Given the description of an element on the screen output the (x, y) to click on. 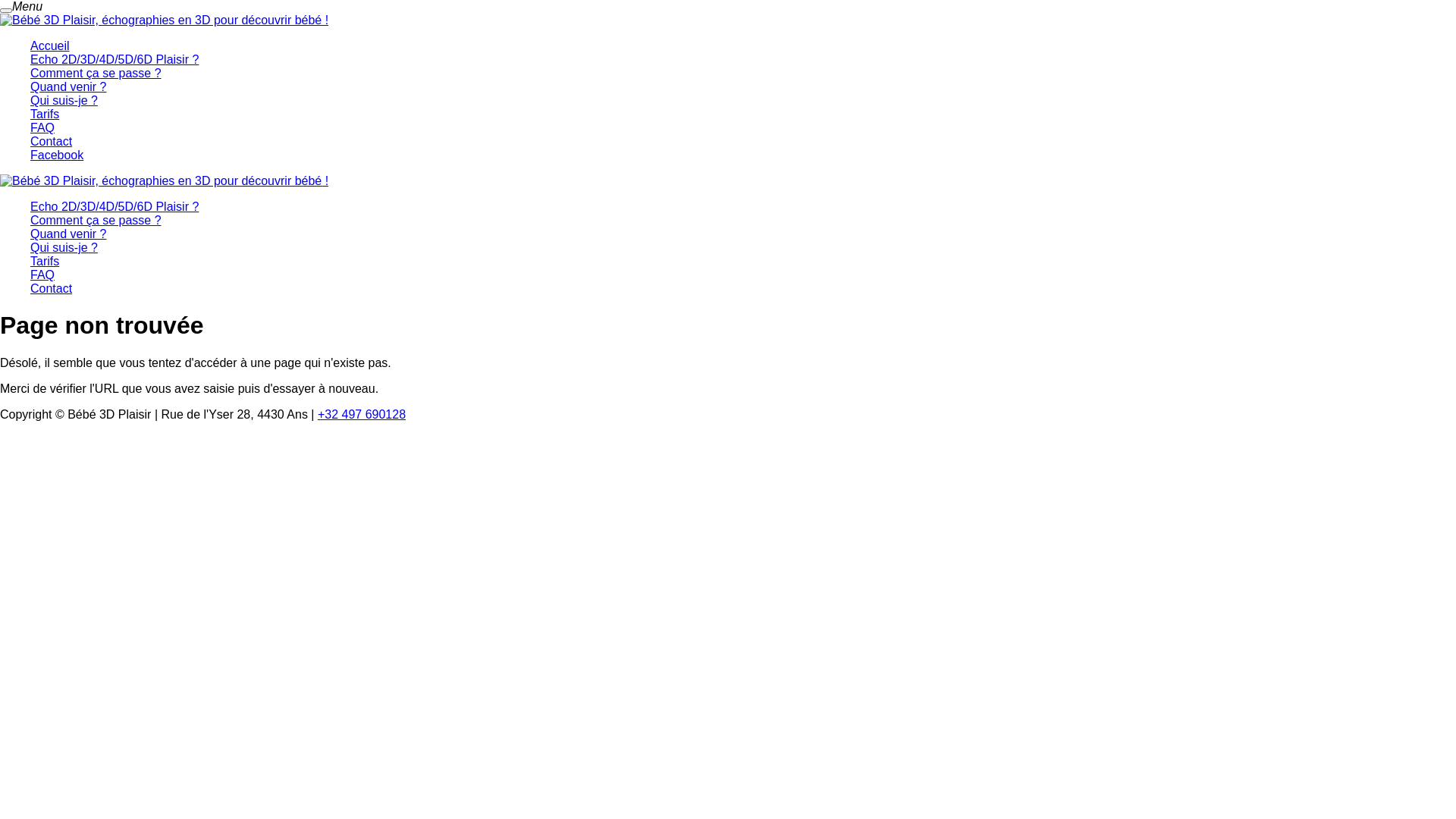
Tarifs Element type: text (44, 113)
Echo 2D/3D/4D/5D/6D Plaisir ? Element type: text (114, 59)
Tarifs Element type: text (44, 260)
Contact Element type: text (51, 288)
+32 497 690128 Element type: text (361, 413)
Contact Element type: text (51, 140)
Qui suis-je ? Element type: text (63, 100)
FAQ Element type: text (42, 274)
Quand venir ? Element type: text (68, 86)
Facebook Element type: text (56, 154)
Echo 2D/3D/4D/5D/6D Plaisir ? Element type: text (114, 206)
Qui suis-je ? Element type: text (63, 247)
Accueil Element type: text (49, 45)
FAQ Element type: text (42, 127)
Quand venir ? Element type: text (68, 233)
